Given the description of an element on the screen output the (x, y) to click on. 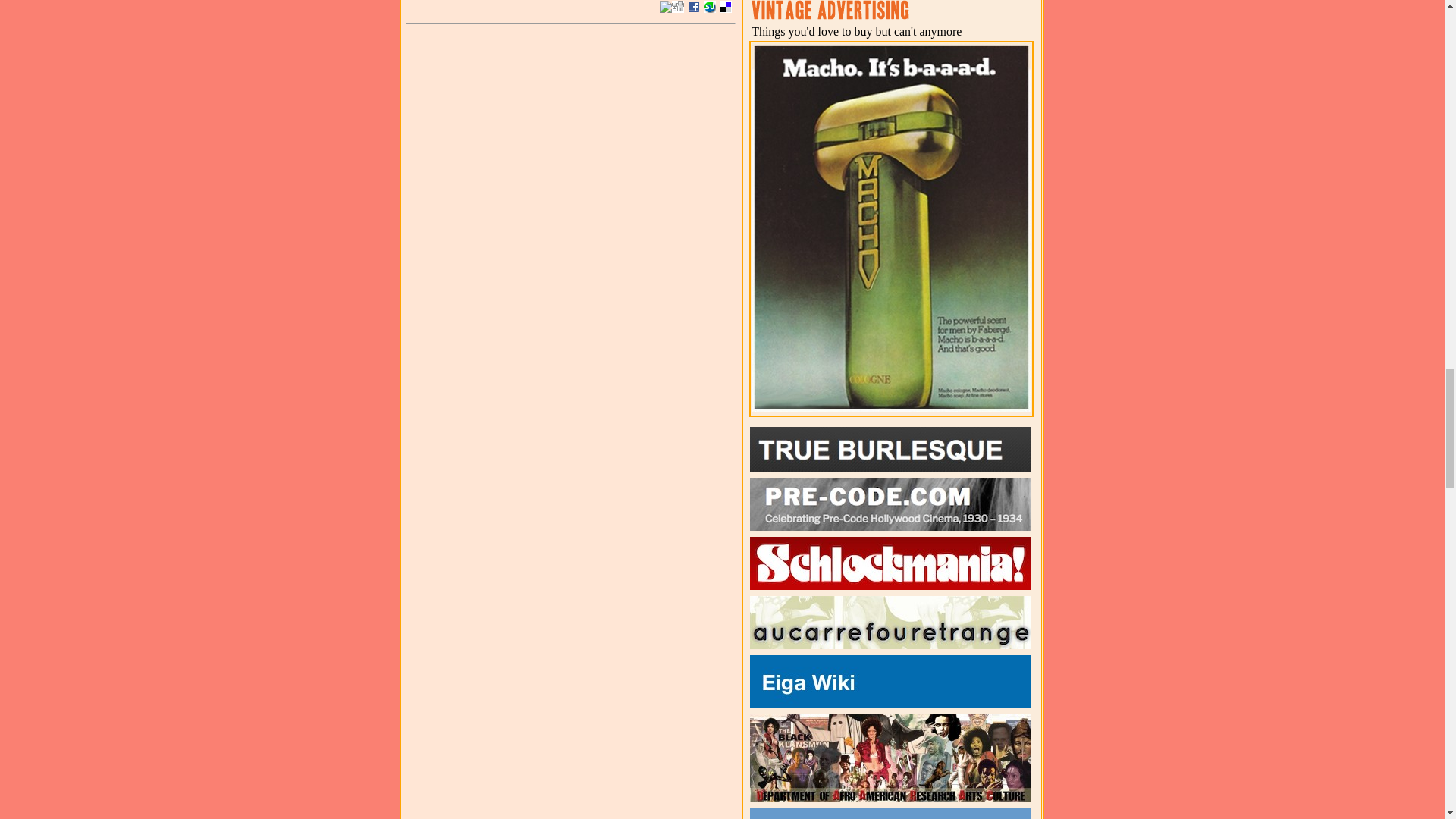
Bookmark this on Delicious (725, 6)
digg:Vintage Mexican poster for Misterio en las Bermudas (677, 6)
Share this on Facebook (693, 6)
